Given the description of an element on the screen output the (x, y) to click on. 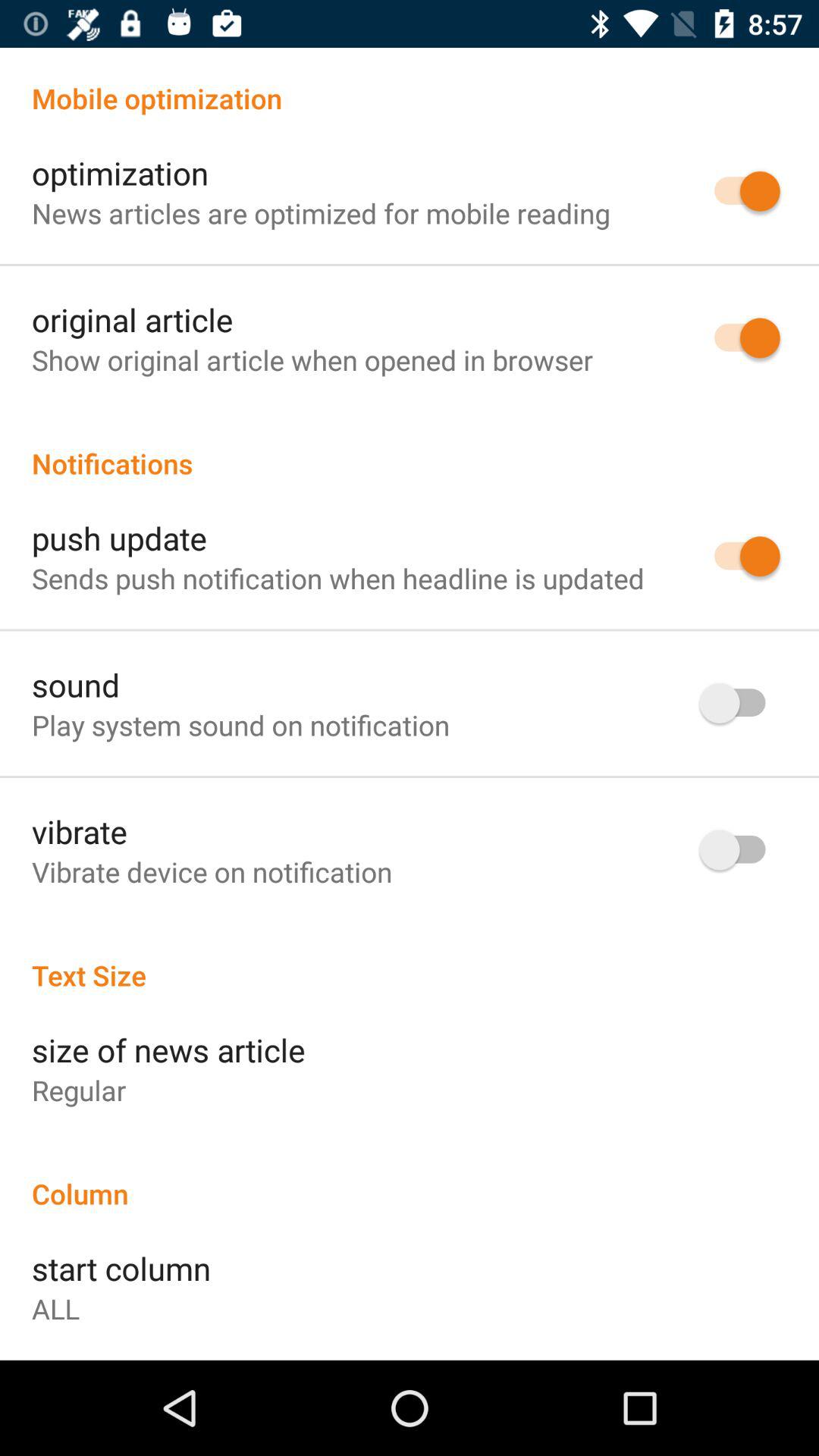
select item below push update icon (337, 578)
